Given the description of an element on the screen output the (x, y) to click on. 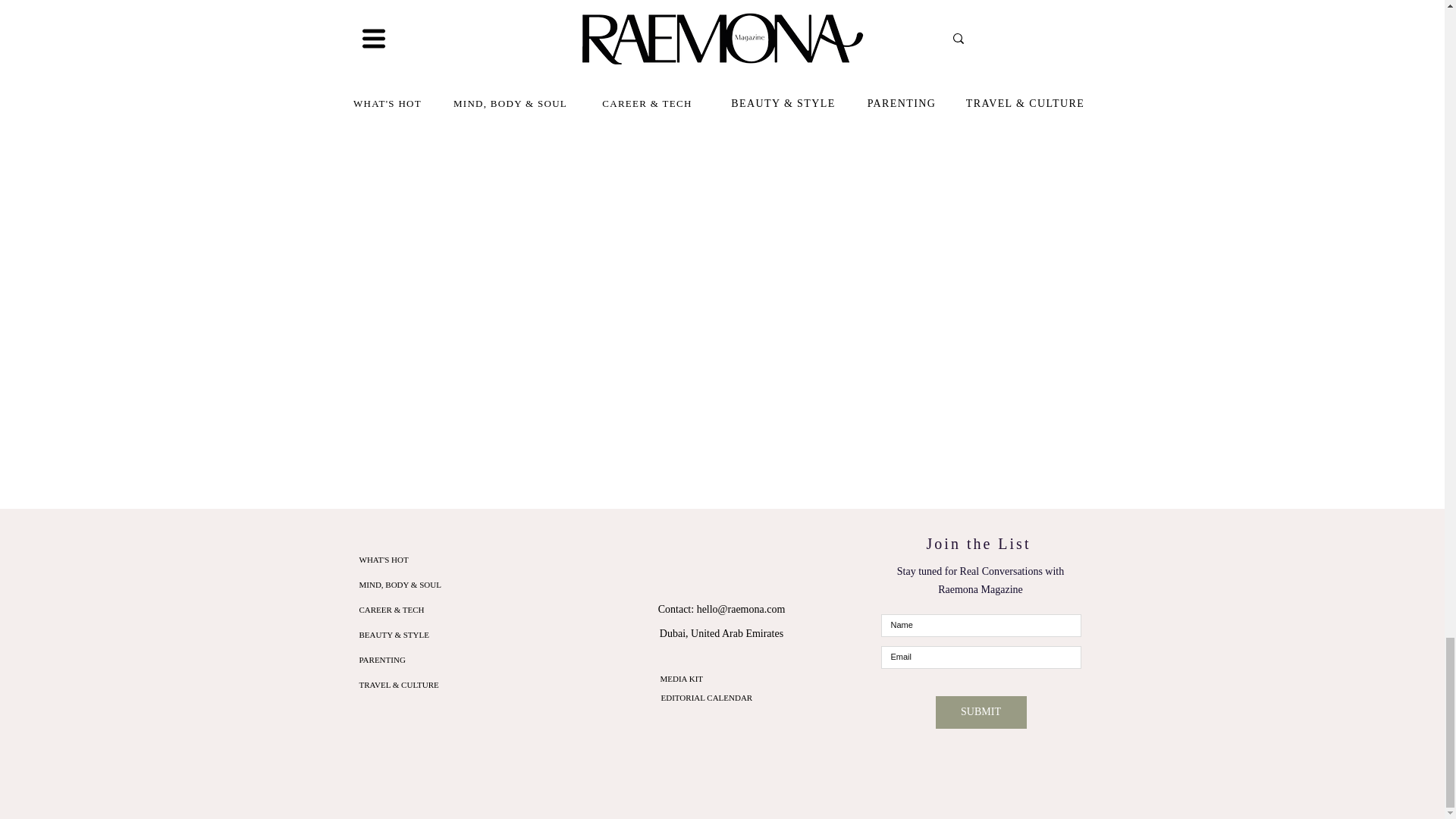
WHAT'S HOT (440, 559)
SUBMIT (981, 712)
PARENTING (440, 659)
MEDIA KIT (681, 678)
EDITORIAL CALENDAR (706, 696)
